Given the description of an element on the screen output the (x, y) to click on. 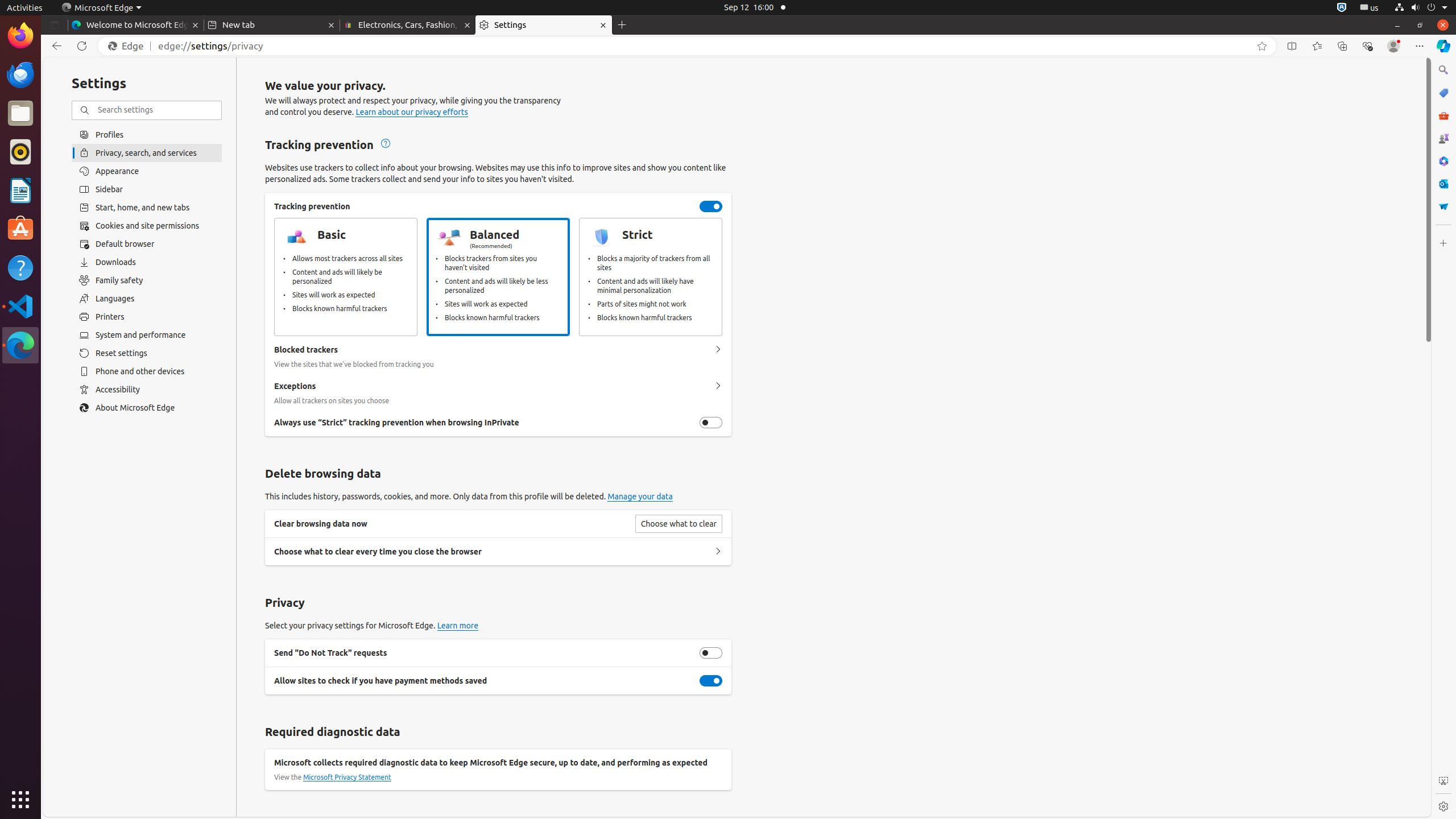
New Tab Element type: push-button (622, 25)
Blocked trackers Element type: push-button (717, 349)
Browser essentials Element type: push-button (1366, 45)
Profiles Element type: tree-item (146, 134)
Edge Element type: push-button (128, 46)
